Given the description of an element on the screen output the (x, y) to click on. 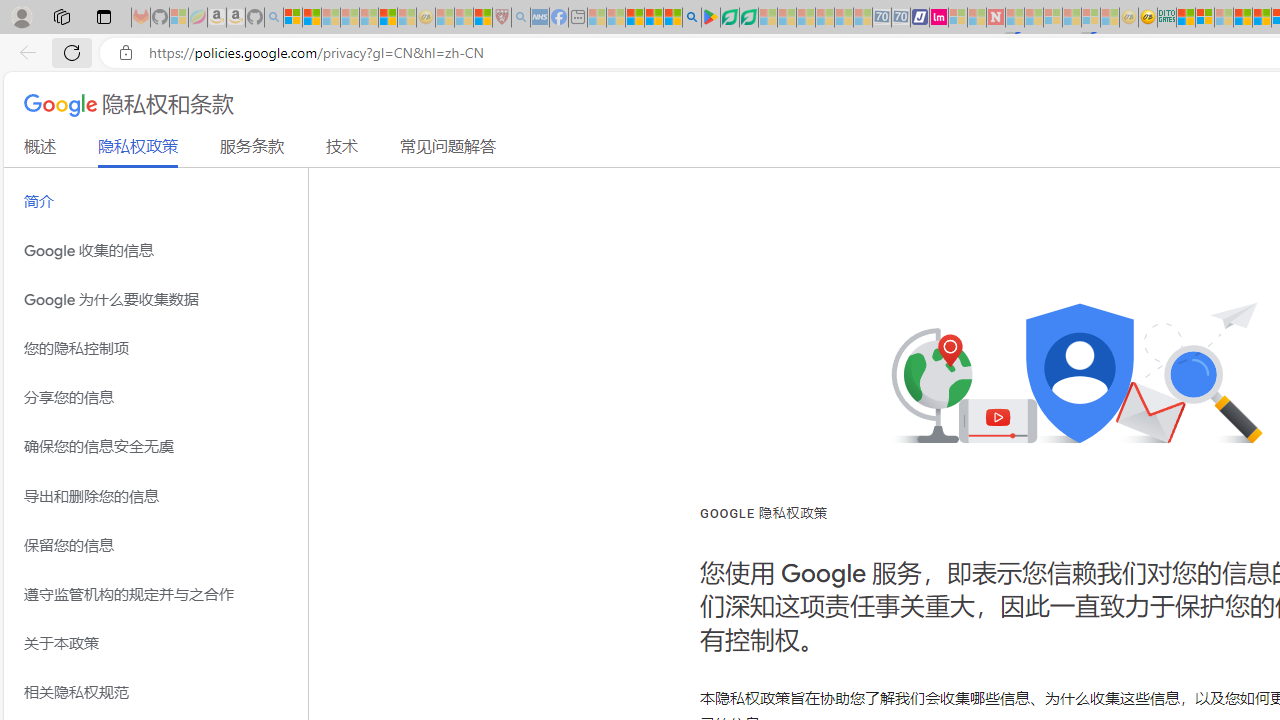
Microsoft Word - consumer-privacy address update 2.2021 (748, 17)
